Given the description of an element on the screen output the (x, y) to click on. 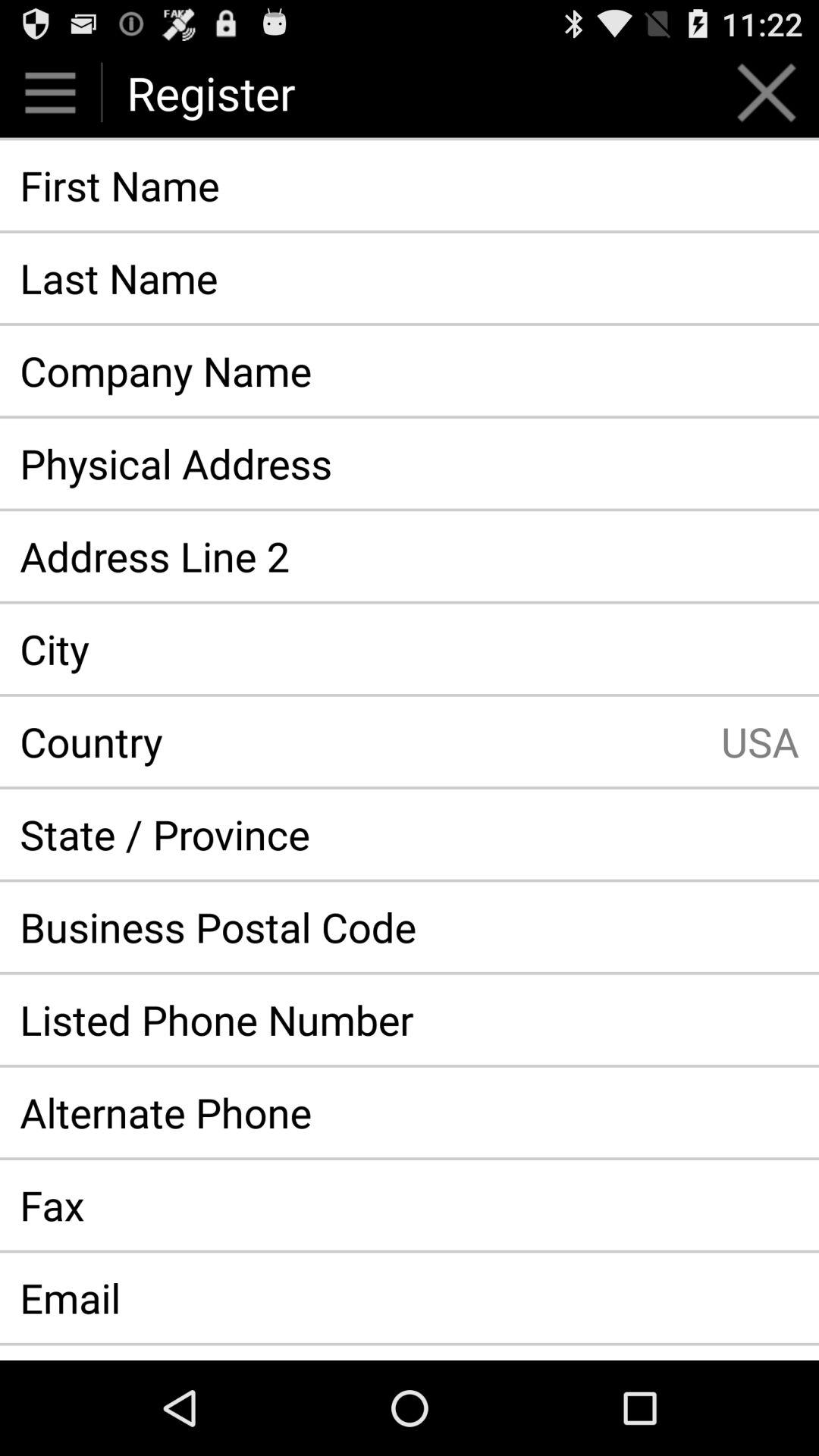
click on the icon which is next to the register (766, 93)
